Given the description of an element on the screen output the (x, y) to click on. 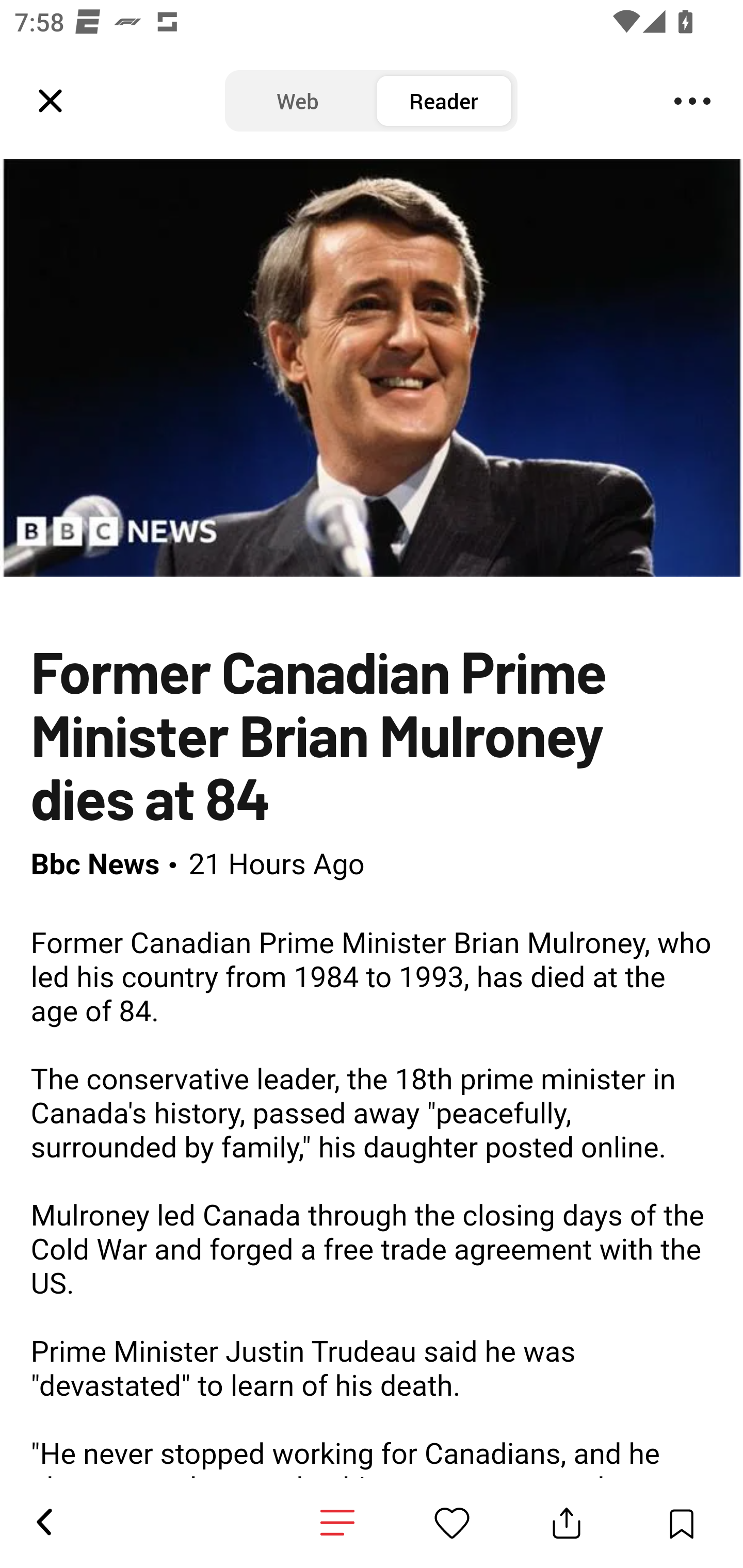
Leading Icon (50, 101)
Web (297, 101)
Menu (692, 101)
Back Button (43, 1523)
News Detail Emotion (451, 1523)
Share Button (566, 1523)
Save Button (680, 1523)
News Detail Emotion (337, 1523)
